Given the description of an element on the screen output the (x, y) to click on. 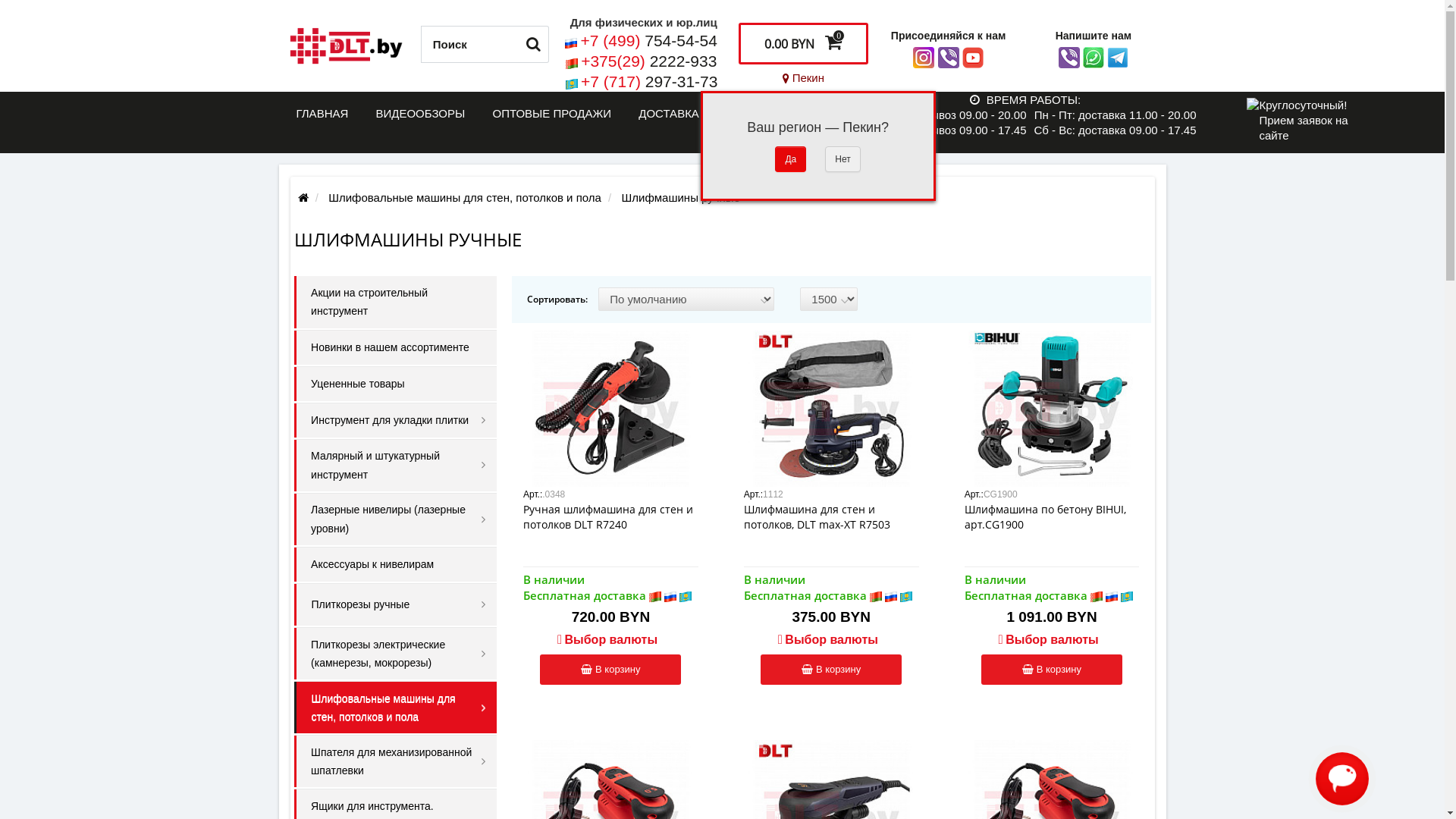
+7 (717) 297-31-73 Element type: text (648, 81)
0.00 BYN
0 Element type: text (803, 44)
+375(29) 2222-933 Element type: text (648, 60)
DLT.BY Element type: hover (345, 46)
+7 (499) 754-54-54 Element type: text (648, 40)
